Given the description of an element on the screen output the (x, y) to click on. 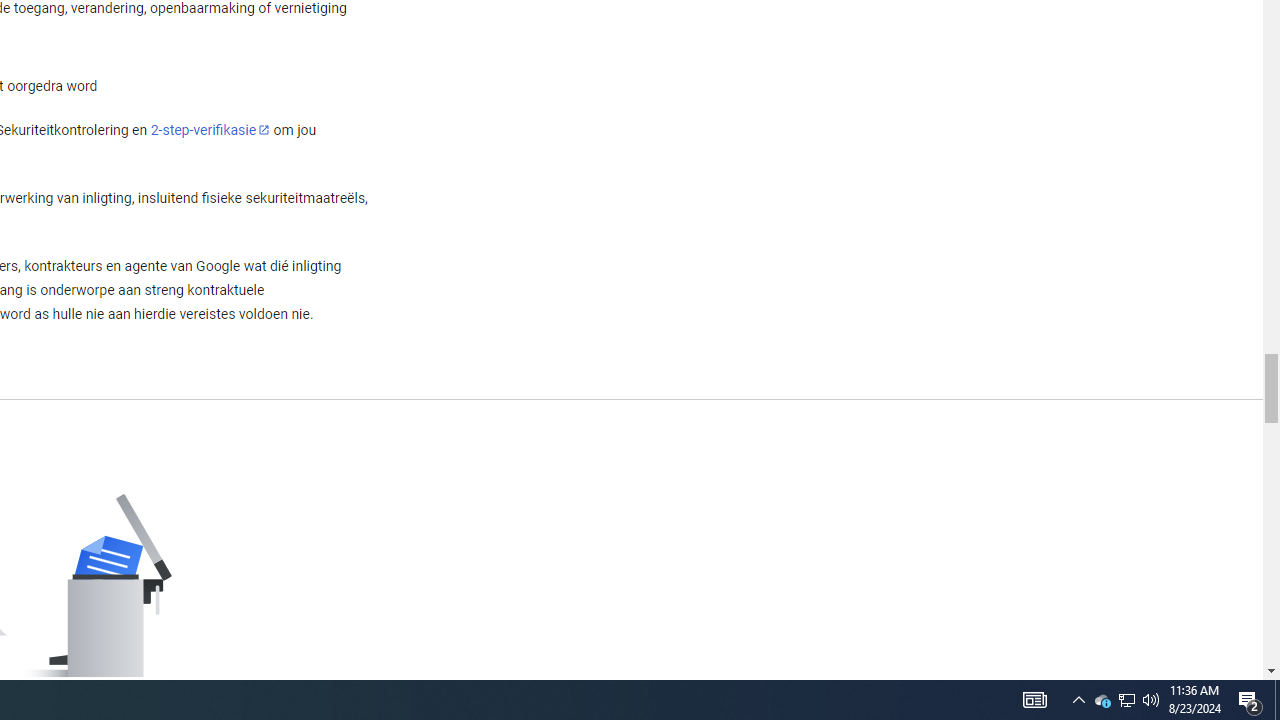
2-step-verifikasie (210, 129)
